Given the description of an element on the screen output the (x, y) to click on. 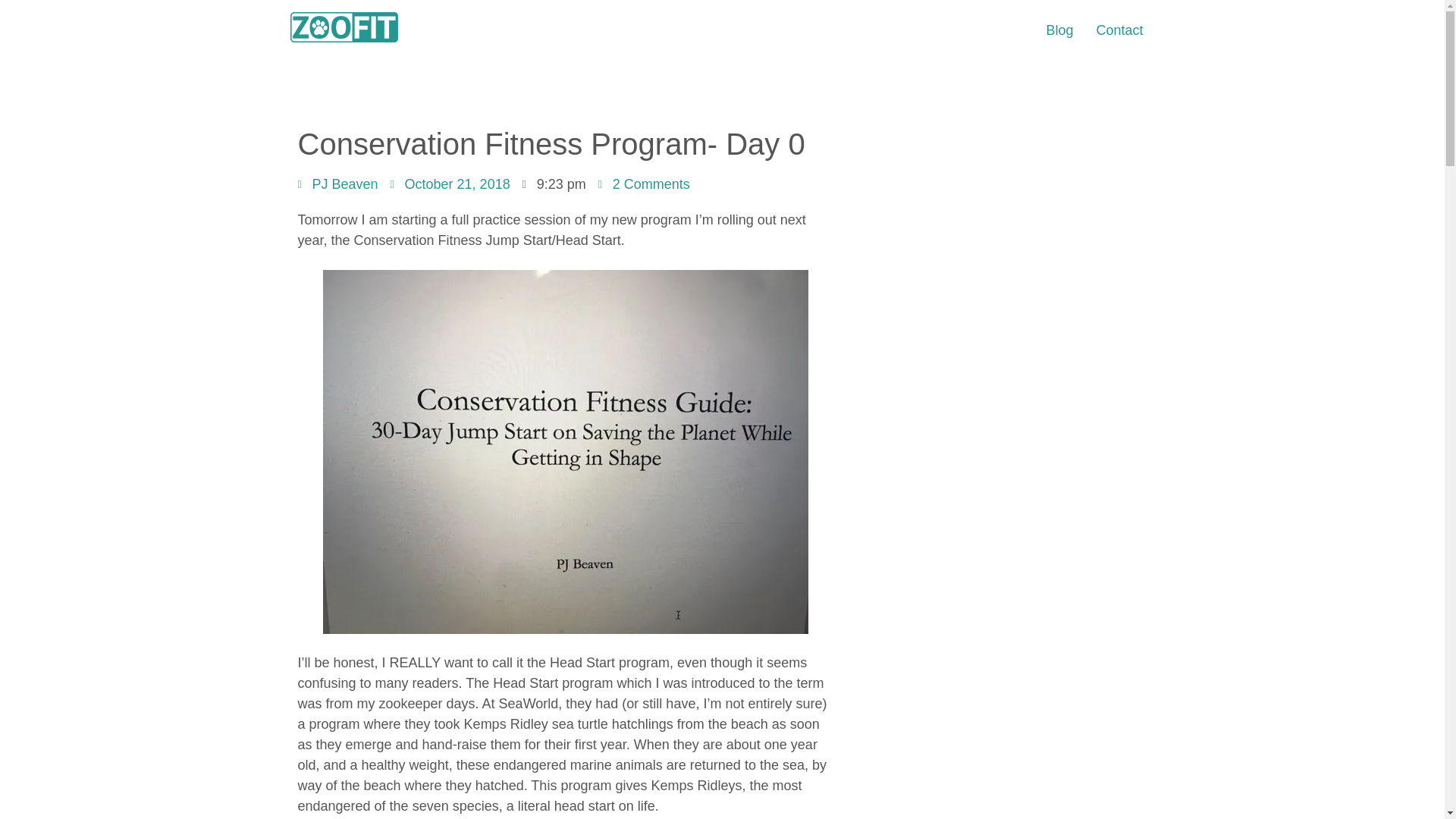
Blog (1058, 29)
PJ Beaven (337, 184)
Contact (1119, 29)
October 21, 2018 (450, 184)
2 Comments (644, 184)
